Given the description of an element on the screen output the (x, y) to click on. 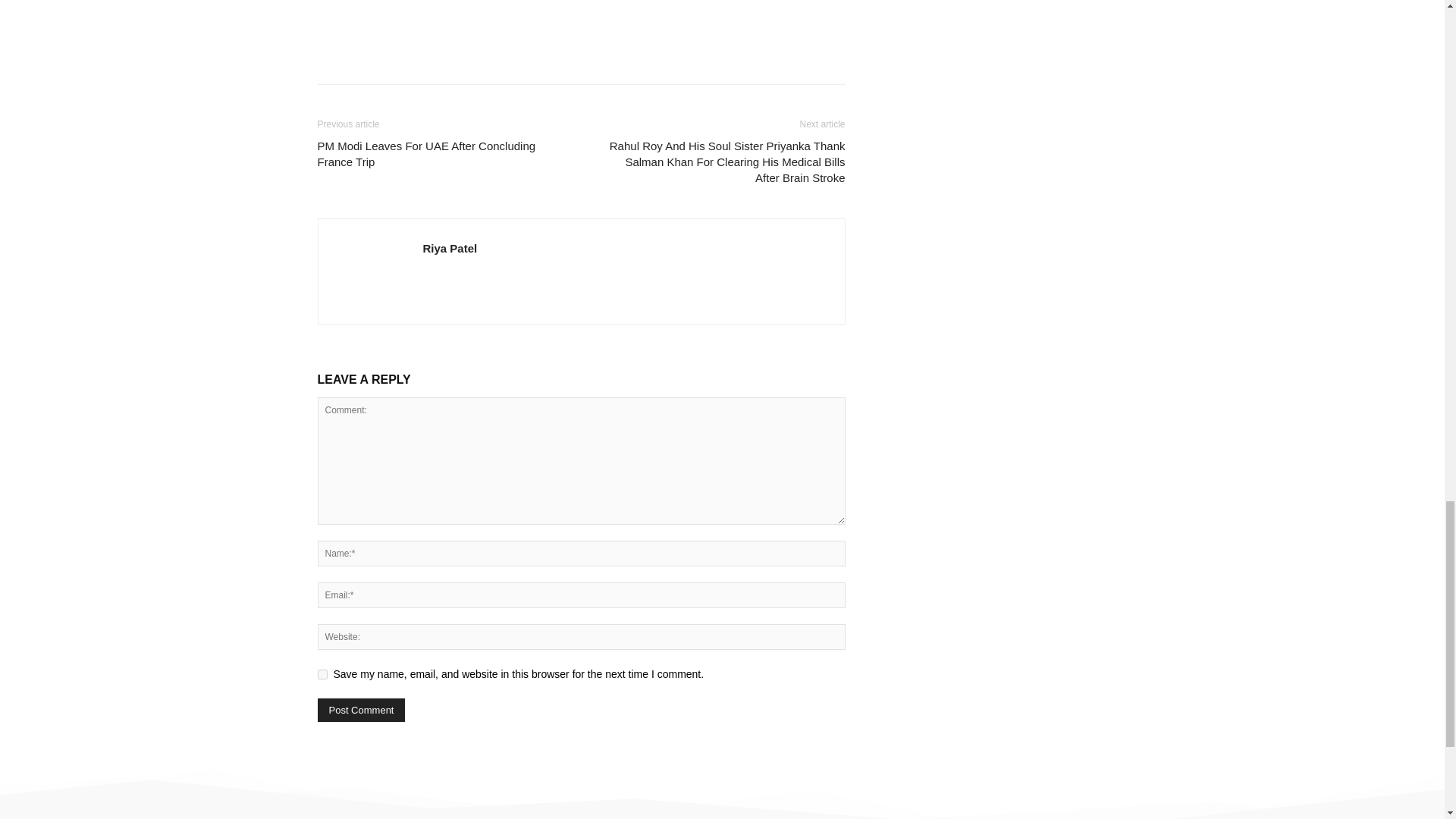
yes (321, 674)
Post Comment (360, 709)
